Given the description of an element on the screen output the (x, y) to click on. 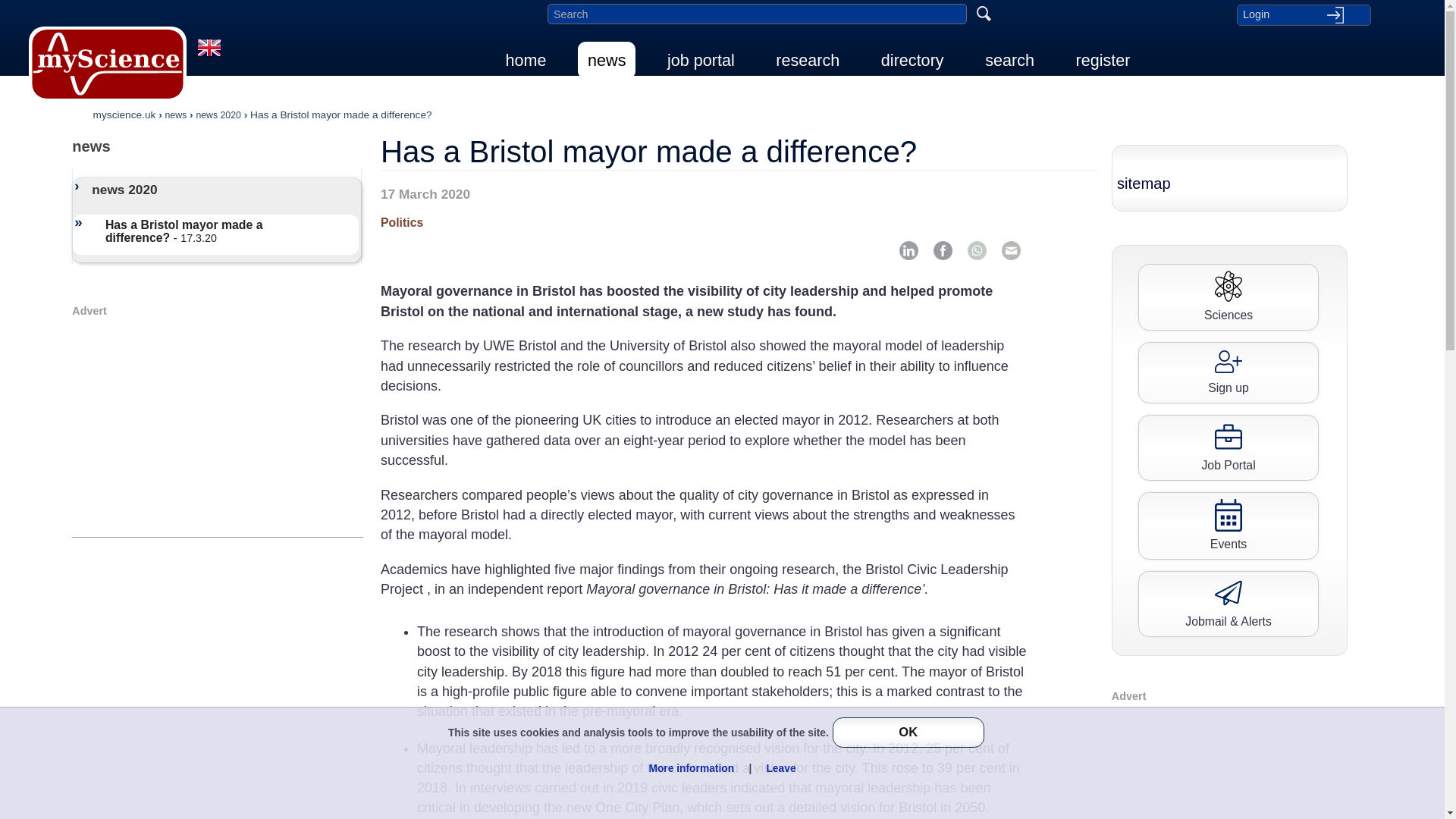
Login (1303, 14)
search (1009, 59)
research (806, 59)
myScience Home (107, 63)
Share on Facebook (942, 250)
directory (911, 59)
Has a Bristol mayor made a difference? (341, 114)
register (1102, 59)
news (176, 114)
news 2020 (217, 114)
home (526, 59)
Send by Email (1011, 250)
myscience.uk (124, 114)
news (606, 59)
job portal (701, 59)
